Given the description of an element on the screen output the (x, y) to click on. 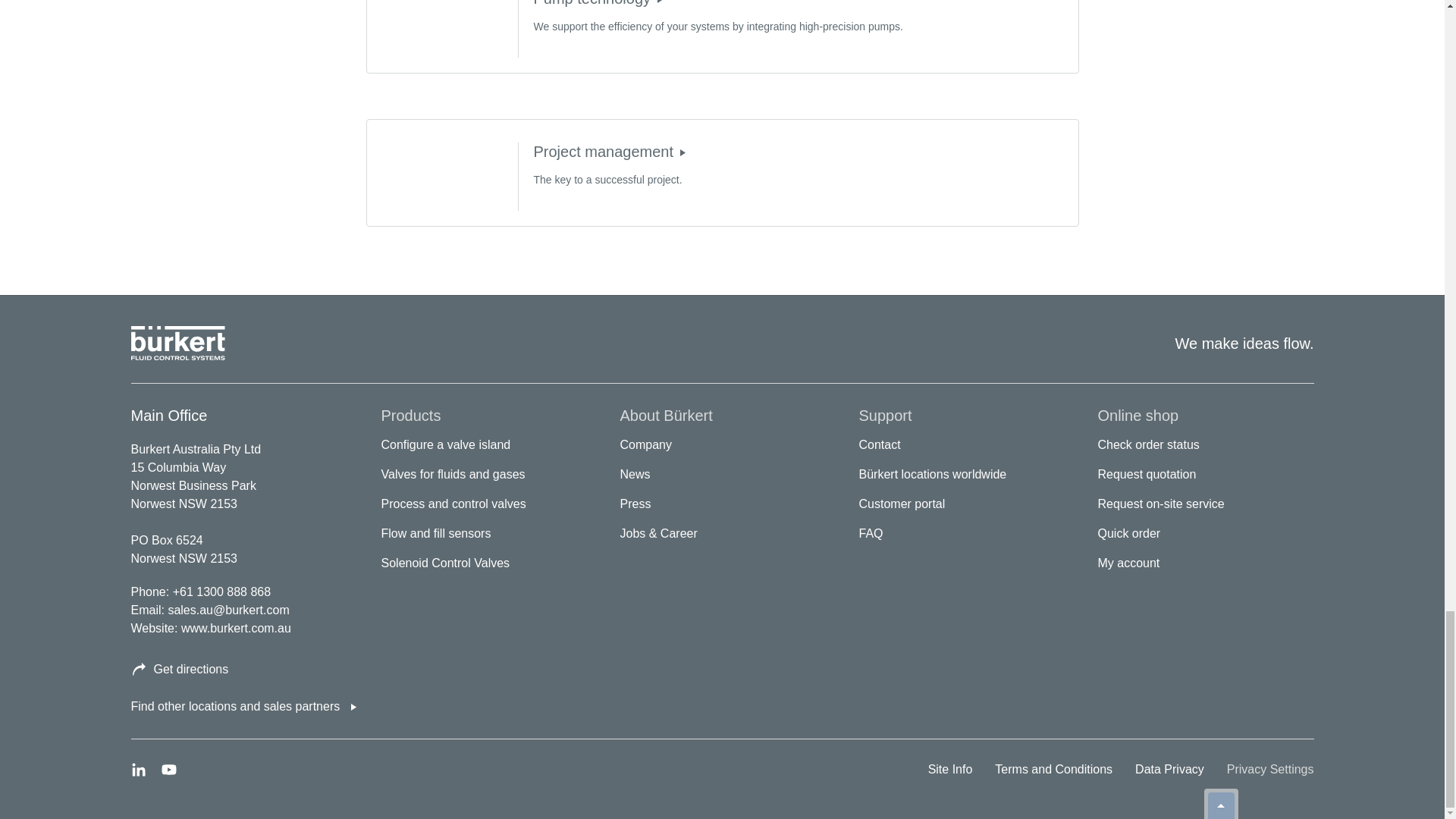
Buerkert logo (177, 343)
Project management (682, 151)
Pump technology (659, 3)
